Given the description of an element on the screen output the (x, y) to click on. 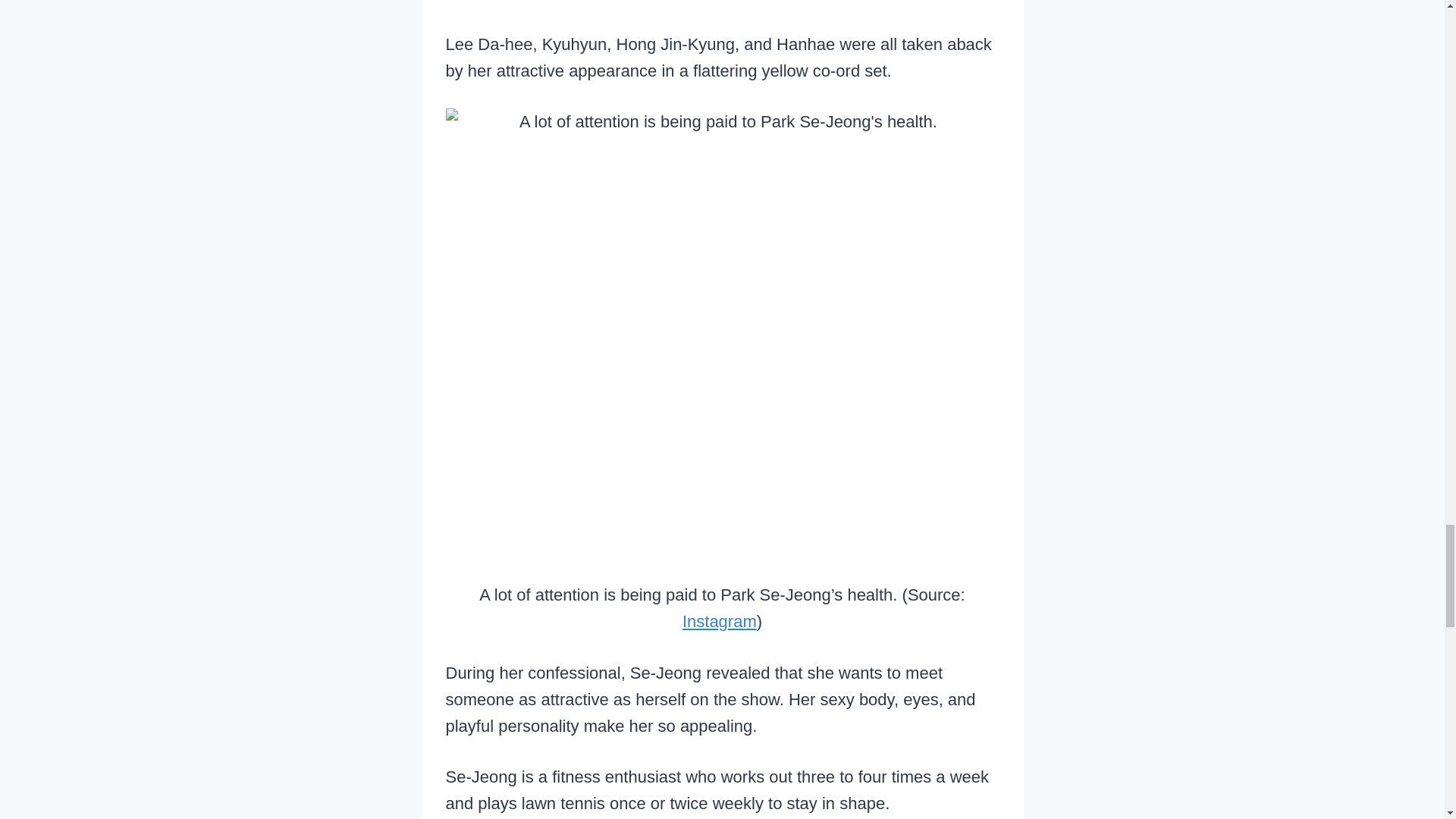
Instagram (719, 620)
